Given the description of an element on the screen output the (x, y) to click on. 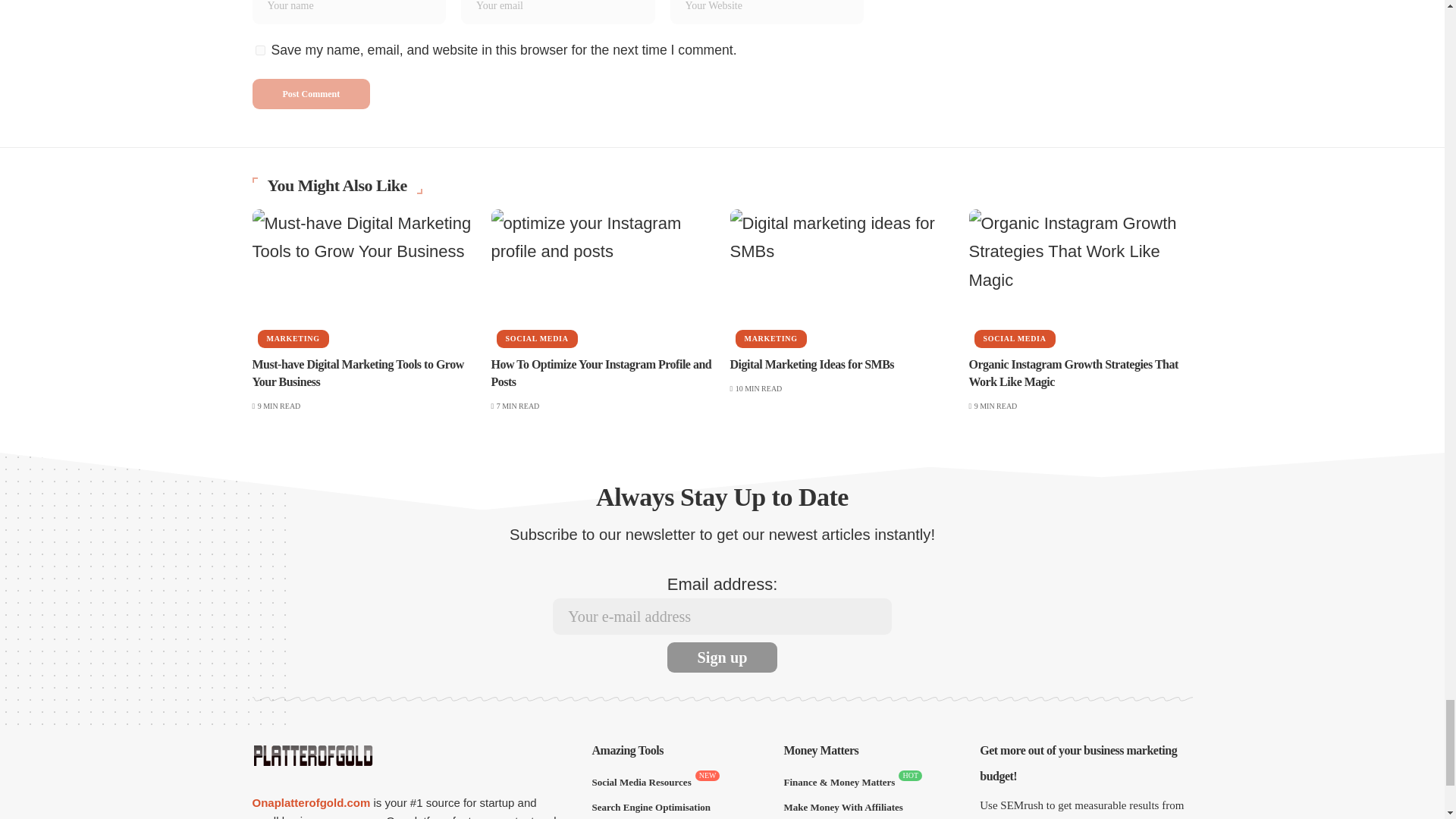
Sign up (721, 657)
Post Comment (310, 93)
yes (259, 50)
